Given the description of an element on the screen output the (x, y) to click on. 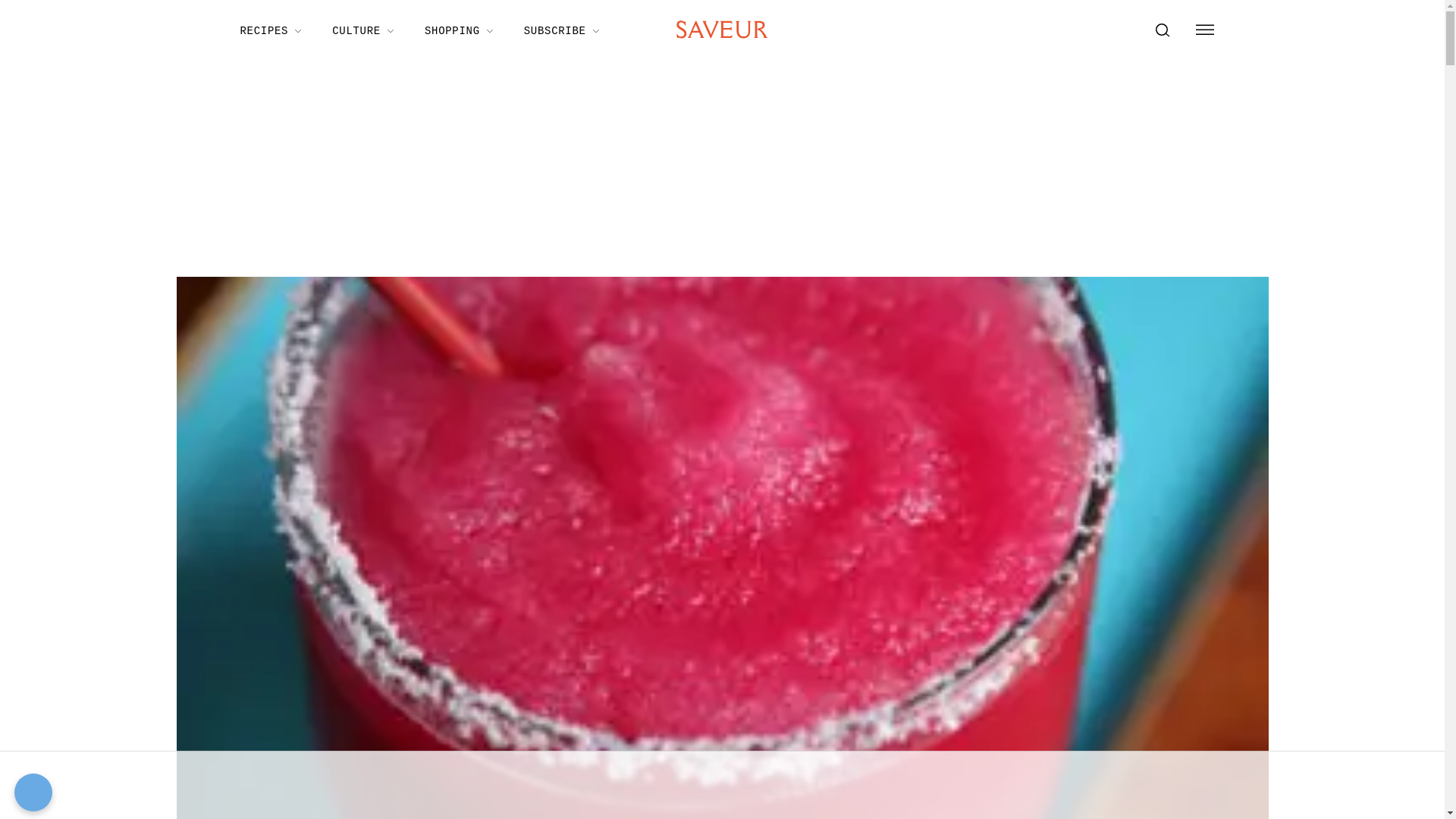
RECIPES (270, 31)
Culture (363, 31)
Subscribe (561, 31)
Recipes (270, 31)
SUBSCRIBE (561, 31)
CULTURE (363, 31)
Shopping (458, 31)
SHOPPING (458, 31)
